Given the description of an element on the screen output the (x, y) to click on. 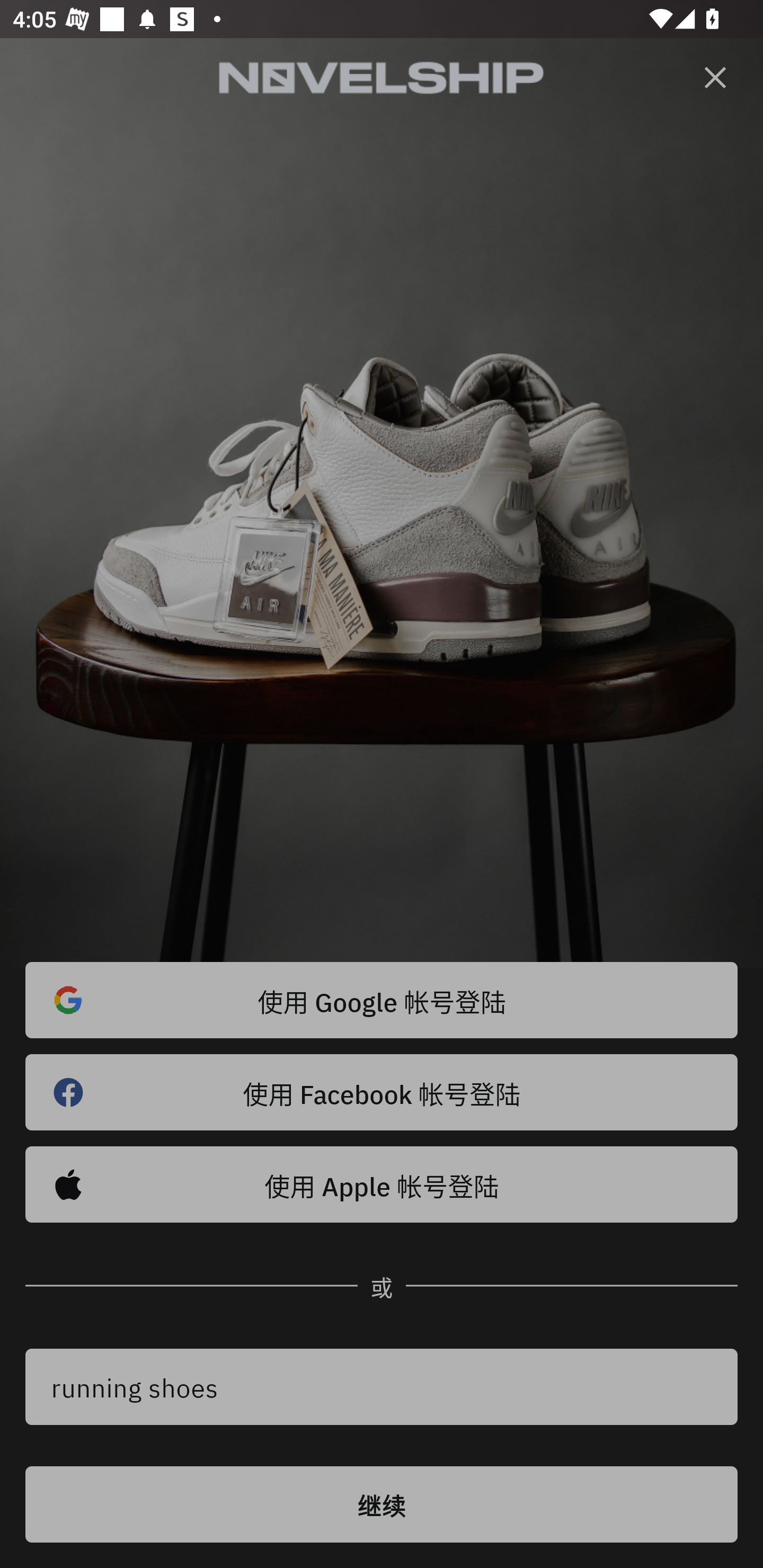
使用 Google 帐号登陆 (381, 1000)
使用 Facebook 帐号登陆 󰈌 (381, 1091)
 使用 Apple 帐号登陆 (381, 1184)
running shoes (381, 1386)
继续 (381, 1504)
